Given the description of an element on the screen output the (x, y) to click on. 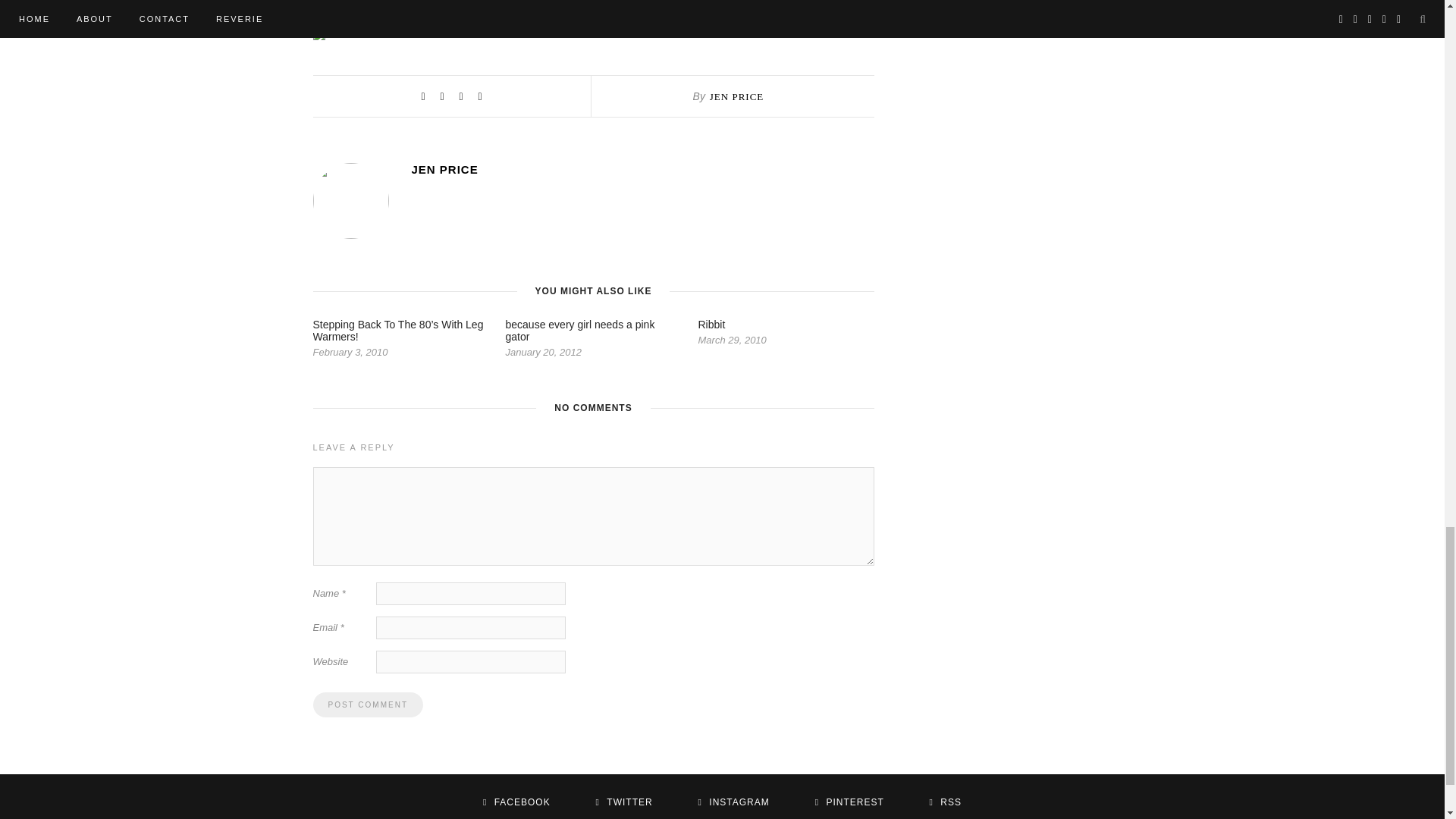
TWITTER (623, 801)
Posts by Jen Price (641, 169)
RSS (945, 801)
INSTAGRAM (734, 801)
Post Comment (367, 704)
PINTEREST (849, 801)
Post Comment (367, 704)
JEN PRICE (736, 96)
FACEBOOK (516, 801)
Posts by Jen Price (736, 96)
Ribbit (711, 324)
because every girl needs a pink gator (579, 330)
JEN PRICE (641, 169)
scarf happy by i believe in love, on Flickr (592, 4)
